Given the description of an element on the screen output the (x, y) to click on. 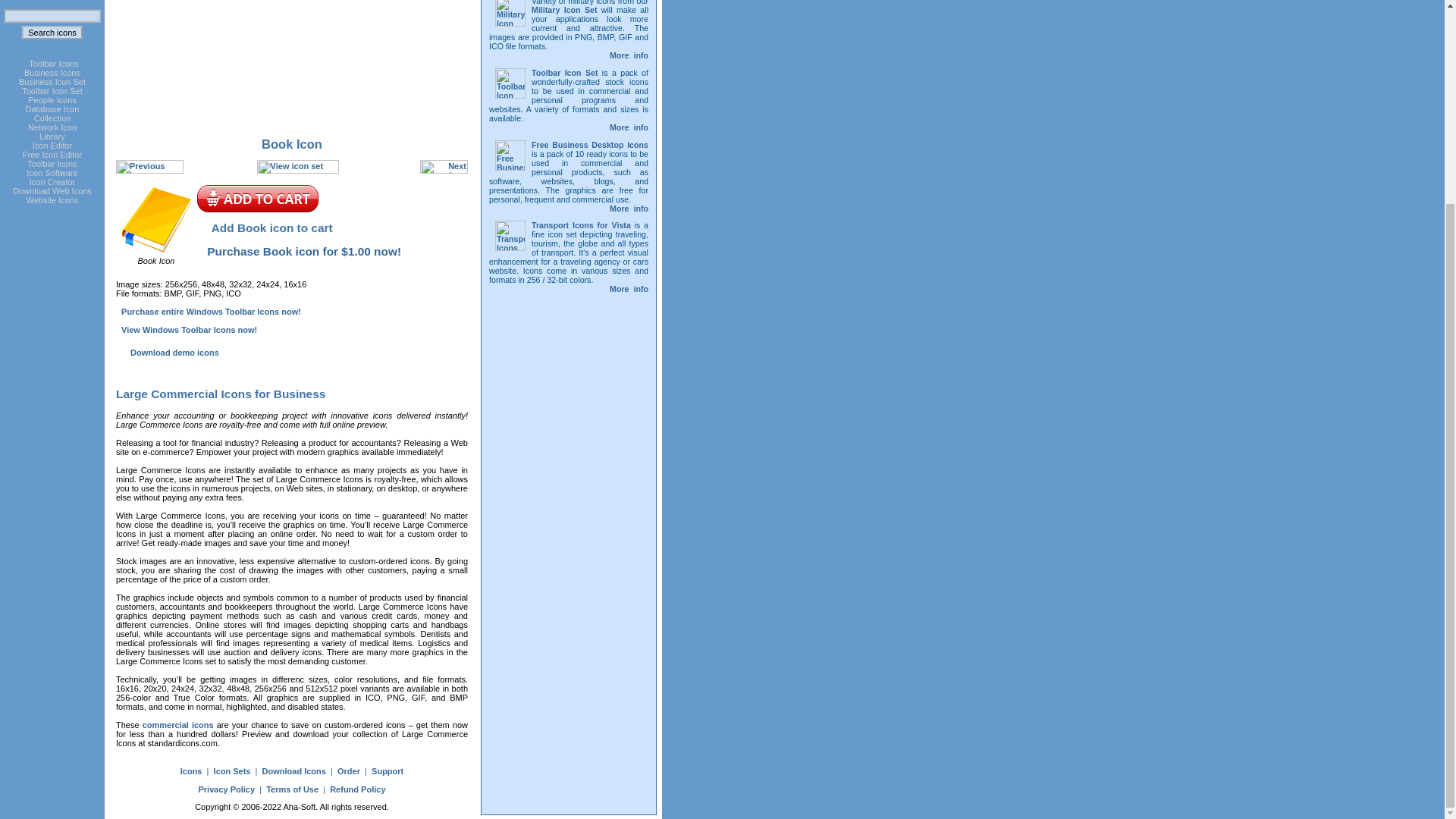
 Add Book icon to cart (53, 113)
Book Icon (330, 219)
Free Icon Editor (291, 64)
Icon Software (52, 153)
Toolbar Icon Set (51, 172)
Search icons (51, 90)
Purchase entire Windows Toolbar Icons now! (51, 32)
Toolbar Icons (52, 131)
